Given the description of an element on the screen output the (x, y) to click on. 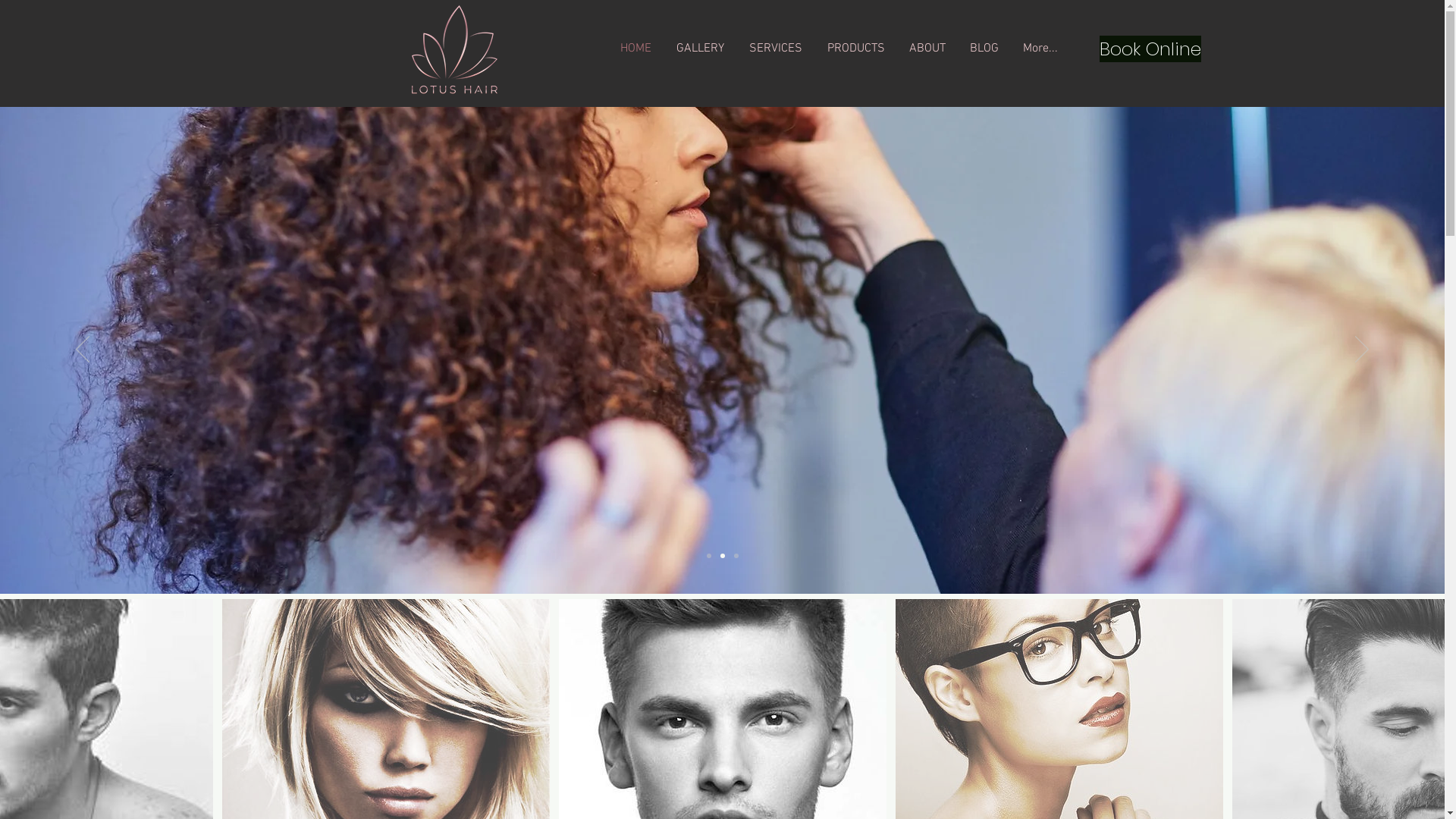
PRODUCTS Element type: text (855, 48)
SERVICES Element type: text (776, 48)
GALLERY Element type: text (700, 48)
Book Online Element type: text (1150, 48)
BLOG Element type: text (983, 48)
ABOUT Element type: text (926, 48)
HOME Element type: text (636, 48)
